Given the description of an element on the screen output the (x, y) to click on. 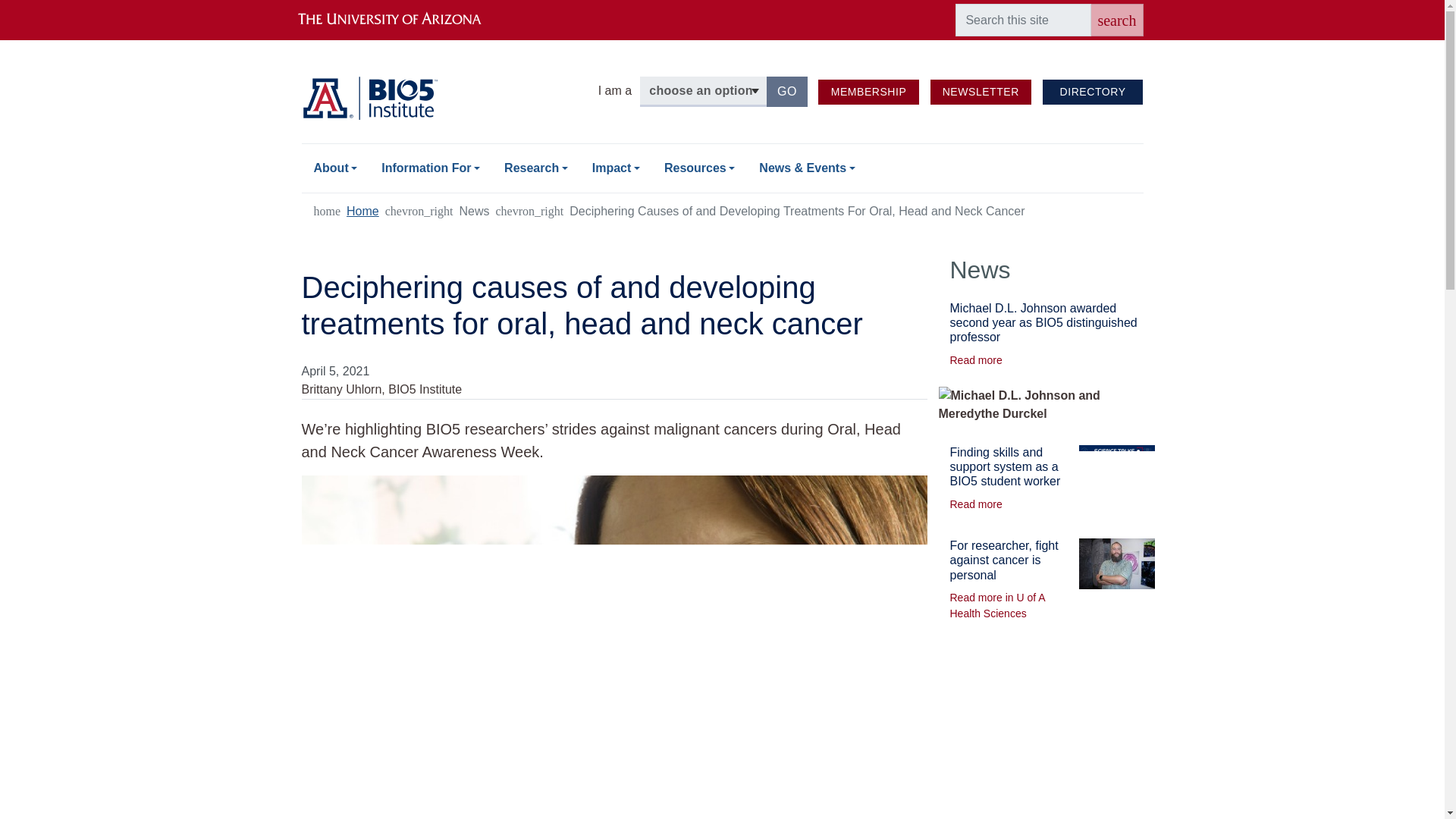
MEMBERSHIP (868, 91)
NEWSLETTER (980, 91)
Skip to main content (721, 1)
Research (535, 168)
search (1116, 20)
Impact (615, 168)
About (335, 168)
Information For (430, 168)
Enter the terms you wish to search for. (787, 91)
